Given the description of an element on the screen output the (x, y) to click on. 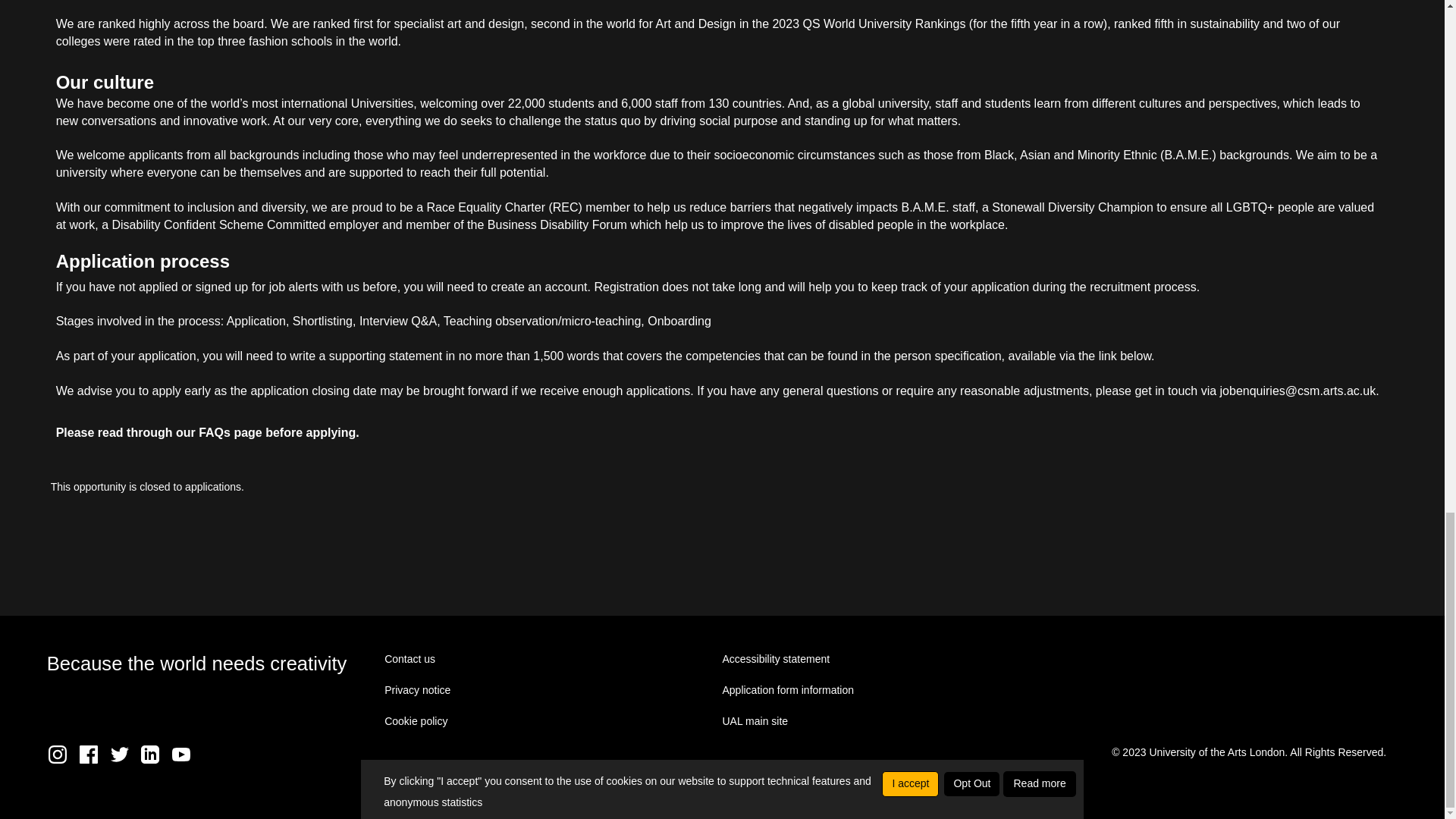
Privacy notice (416, 689)
Accessibility statement (775, 658)
facebook (88, 754)
Cookie policy (415, 720)
FAQs (214, 431)
Contact us (409, 658)
Application form information (787, 689)
youtube (184, 759)
instagram (61, 759)
youtube (180, 754)
facebook (92, 759)
instagram (57, 754)
UAL main site (754, 720)
twitter (119, 754)
twitter (123, 759)
